Given the description of an element on the screen output the (x, y) to click on. 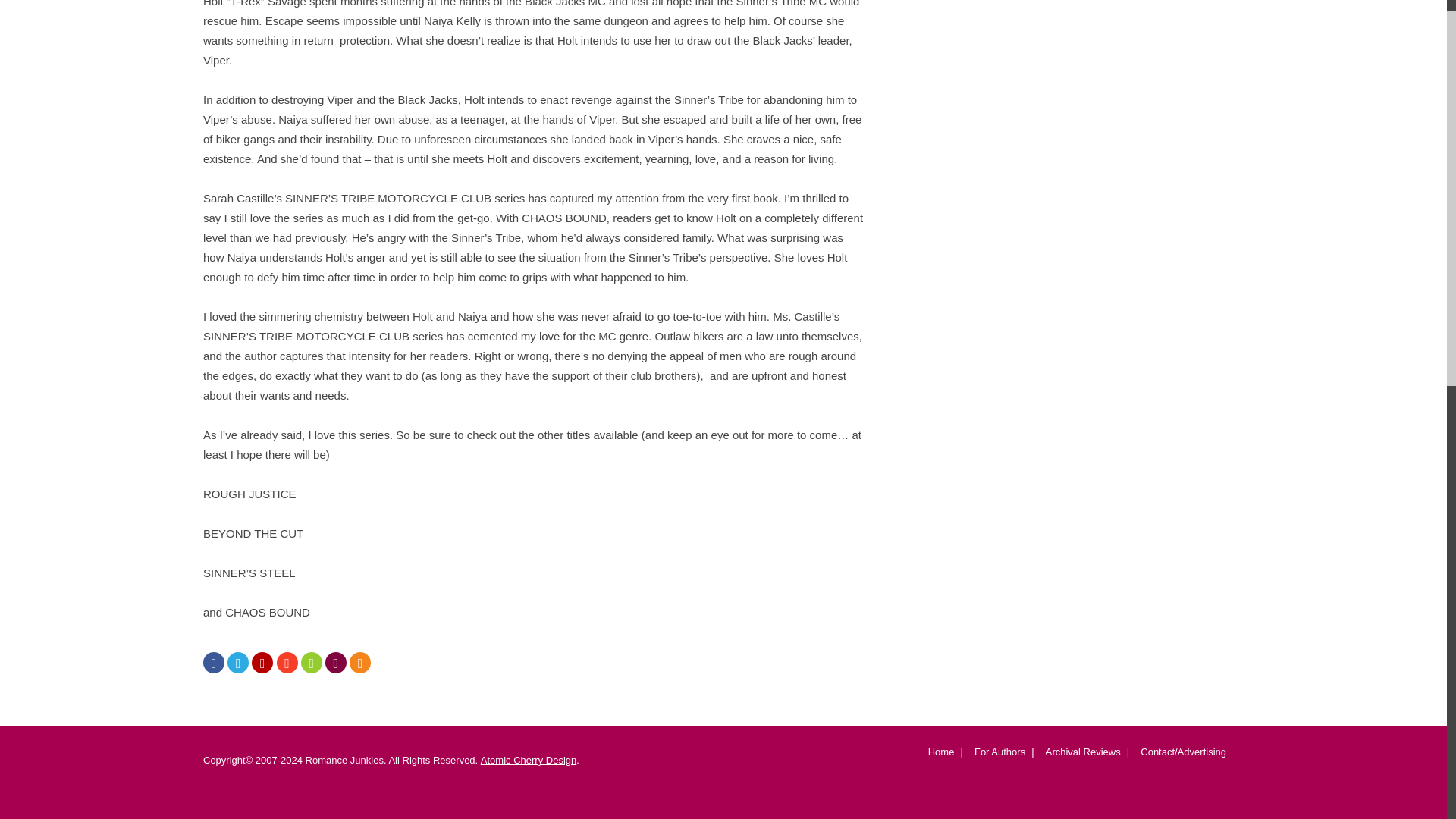
Printer Friendly Article (335, 663)
Archival Reviews (1081, 755)
Tweet Me! (237, 663)
Email to a Friend (311, 663)
Home (939, 755)
Pin it! (262, 663)
Share on Facebook (213, 663)
Atomic Cherry Design (528, 760)
For Authors (997, 755)
